Given the description of an element on the screen output the (x, y) to click on. 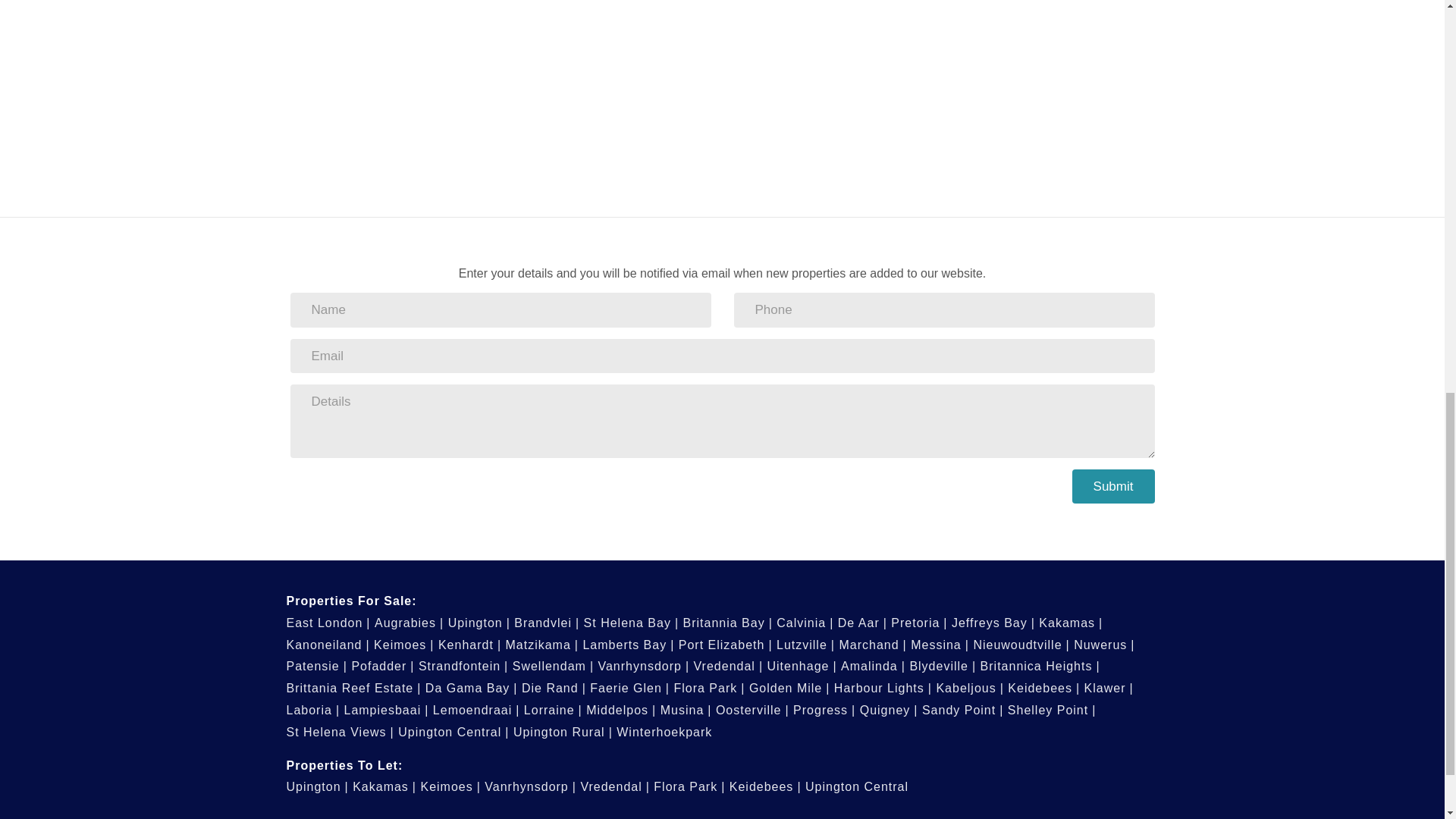
Properties for sale in Jeffreys Bay (993, 622)
Properties for sale in East London (328, 622)
Properties for sale in Britannia Bay (726, 622)
Properties for sale in Calvinia (804, 622)
Properties for sale in De Aar (862, 622)
Properties for sale in Augrabies (409, 622)
Properties for sale in St Helena Bay (630, 622)
Properties for sale in Upington (479, 622)
google map (574, 89)
Properties for sale in Pretoria (919, 622)
Properties for sale in Brandvlei (546, 622)
